Given the description of an element on the screen output the (x, y) to click on. 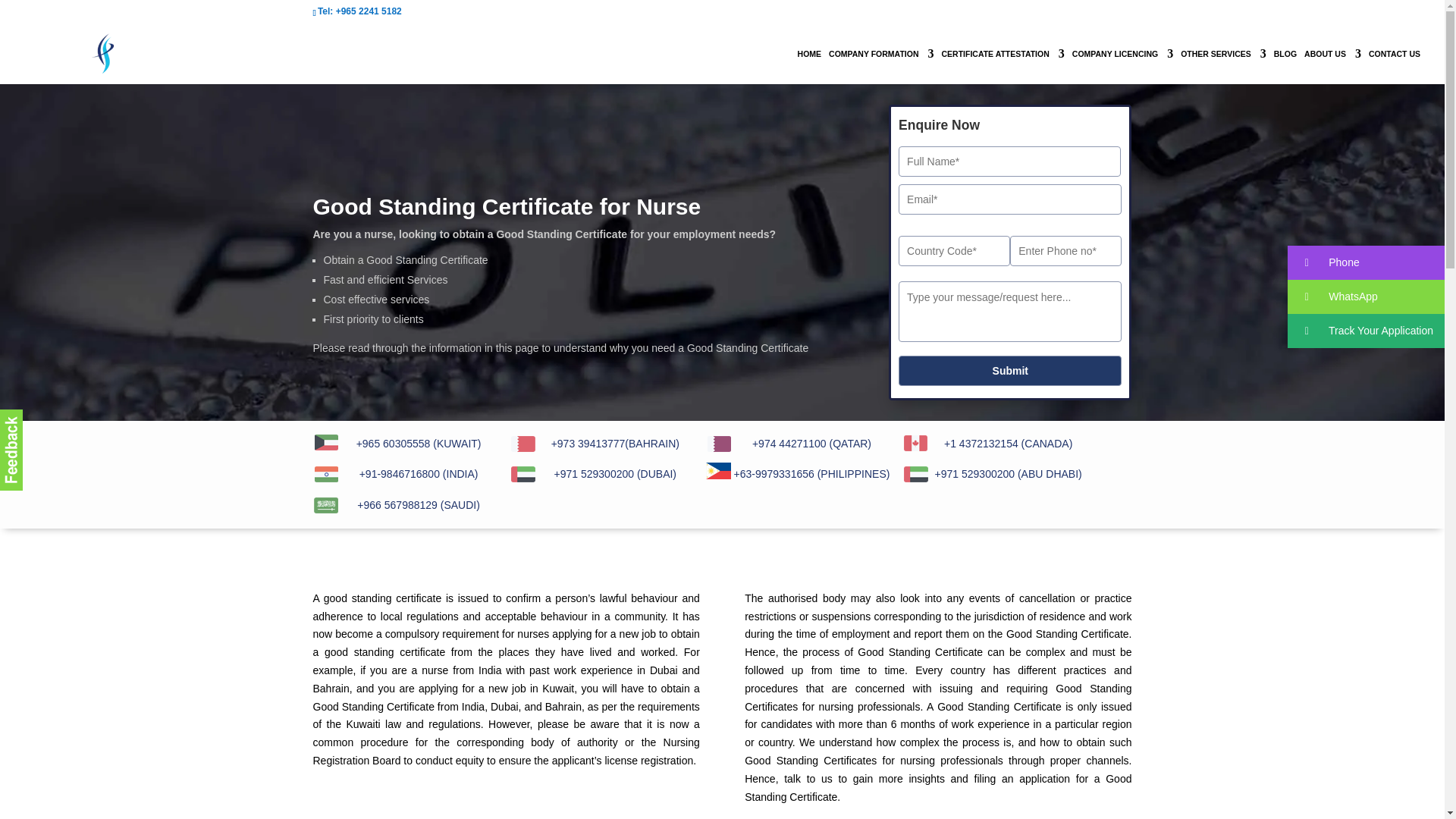
Submit (1009, 369)
COMPANY FORMATION (880, 66)
COMPANY LICENCING (1122, 66)
HOME (809, 66)
CERTIFICATE ATTESTATION (1002, 66)
